Given the description of an element on the screen output the (x, y) to click on. 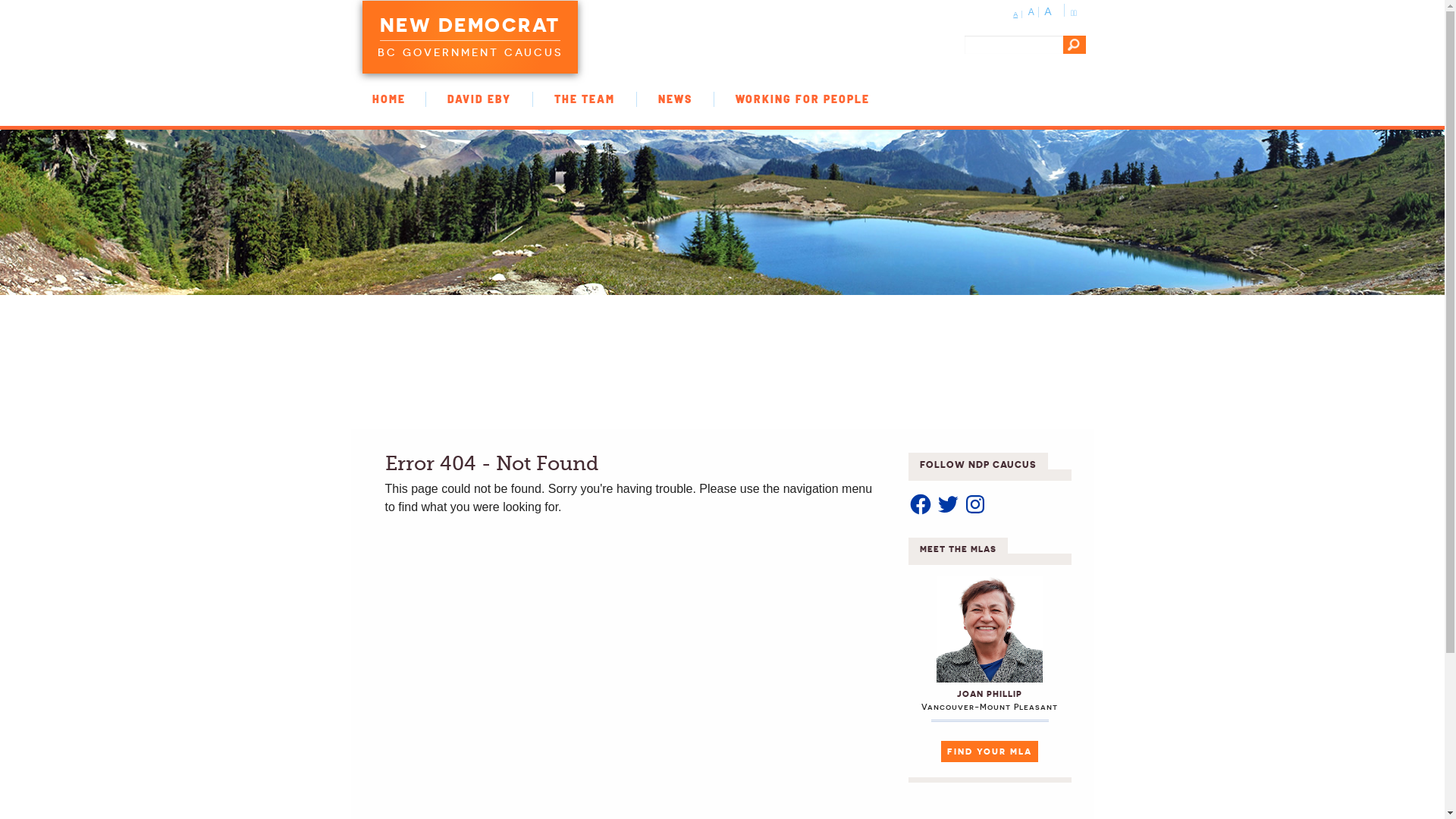
Facebook Element type: text (920, 504)
A Element type: text (1017, 14)
HOME Element type: text (387, 98)
BC GOVERNMENT CAUCUS Element type: text (469, 49)
Go Element type: text (1074, 44)
NEW DEMOCRAT Element type: text (469, 26)
Twitter Element type: text (947, 504)
NEWS Element type: text (675, 98)
CAREER OPPORTUNITIES Element type: text (387, 114)
WORKING FOR PEOPLE Element type: text (802, 98)
A Element type: text (1033, 11)
DAVID EBY Element type: text (479, 98)
Instagram Element type: text (975, 504)
FIND YOUR MLA Element type: text (989, 751)
A Element type: text (1049, 11)
THE TEAM Element type: text (584, 98)
